Given the description of an element on the screen output the (x, y) to click on. 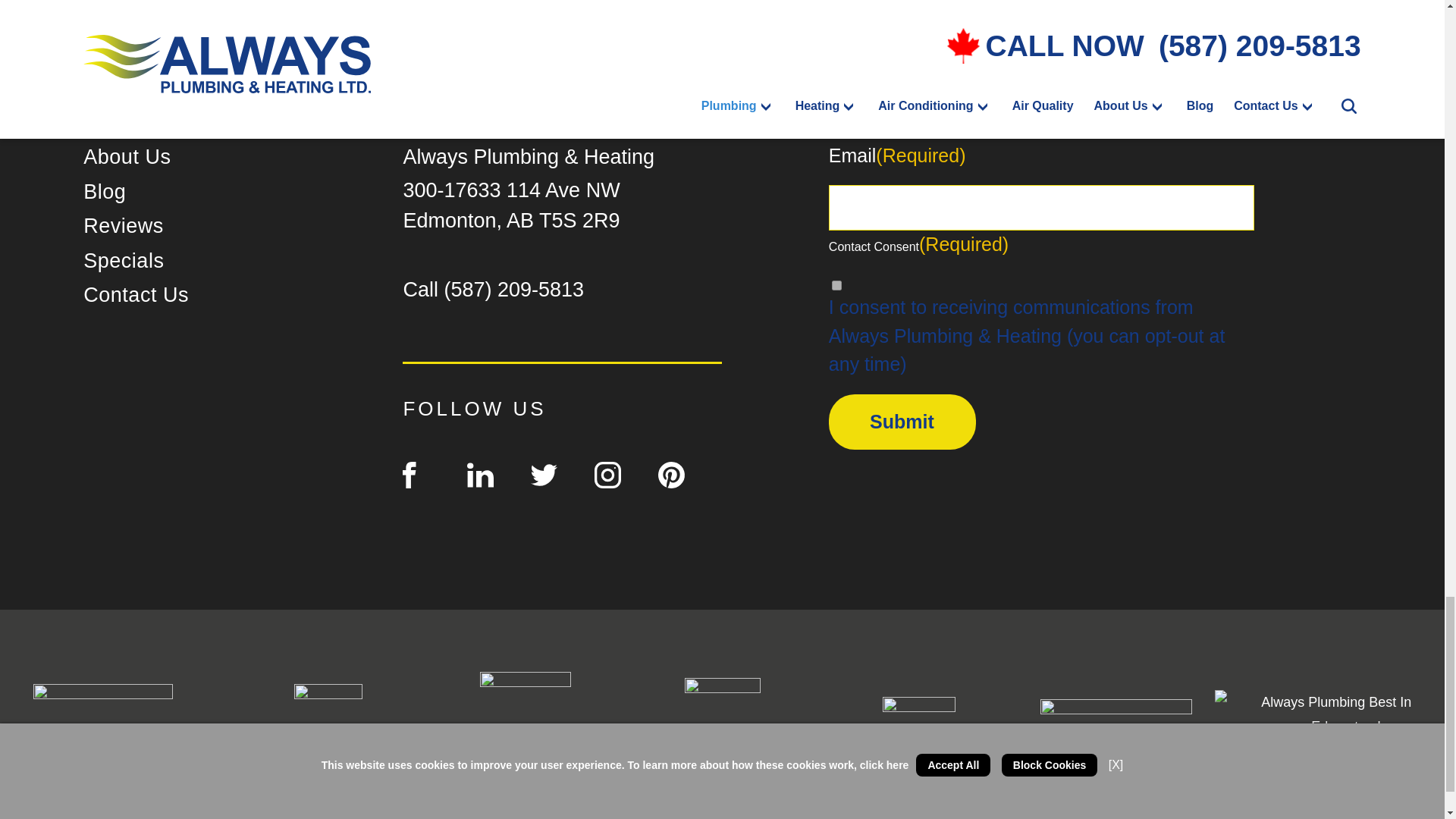
Submit (901, 421)
